Given the description of an element on the screen output the (x, y) to click on. 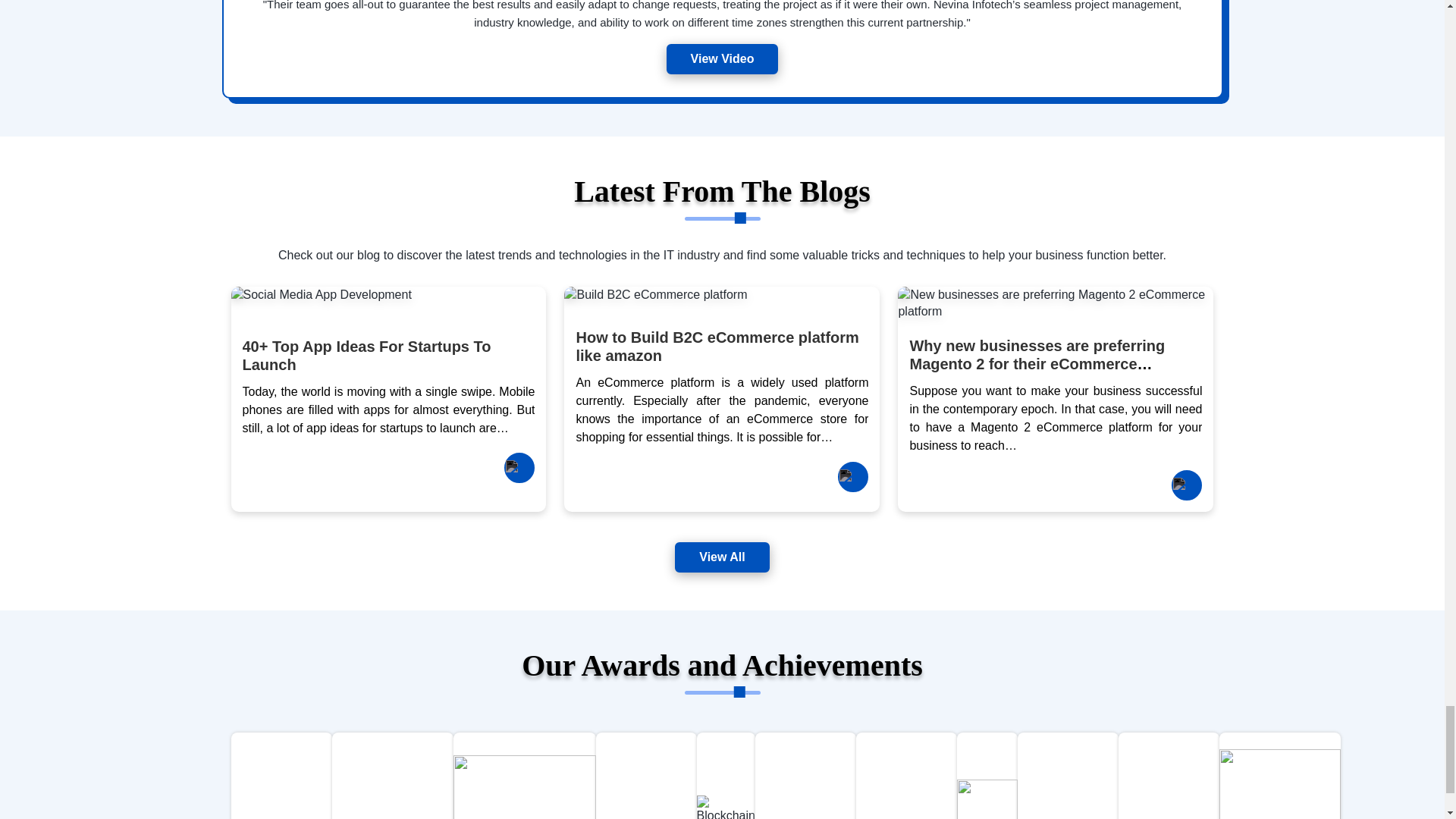
How to Build B2C eCommerce platform like amazon (717, 346)
Top Clutch C Development Ahmedabad 2024 (391, 782)
